Given the description of an element on the screen output the (x, y) to click on. 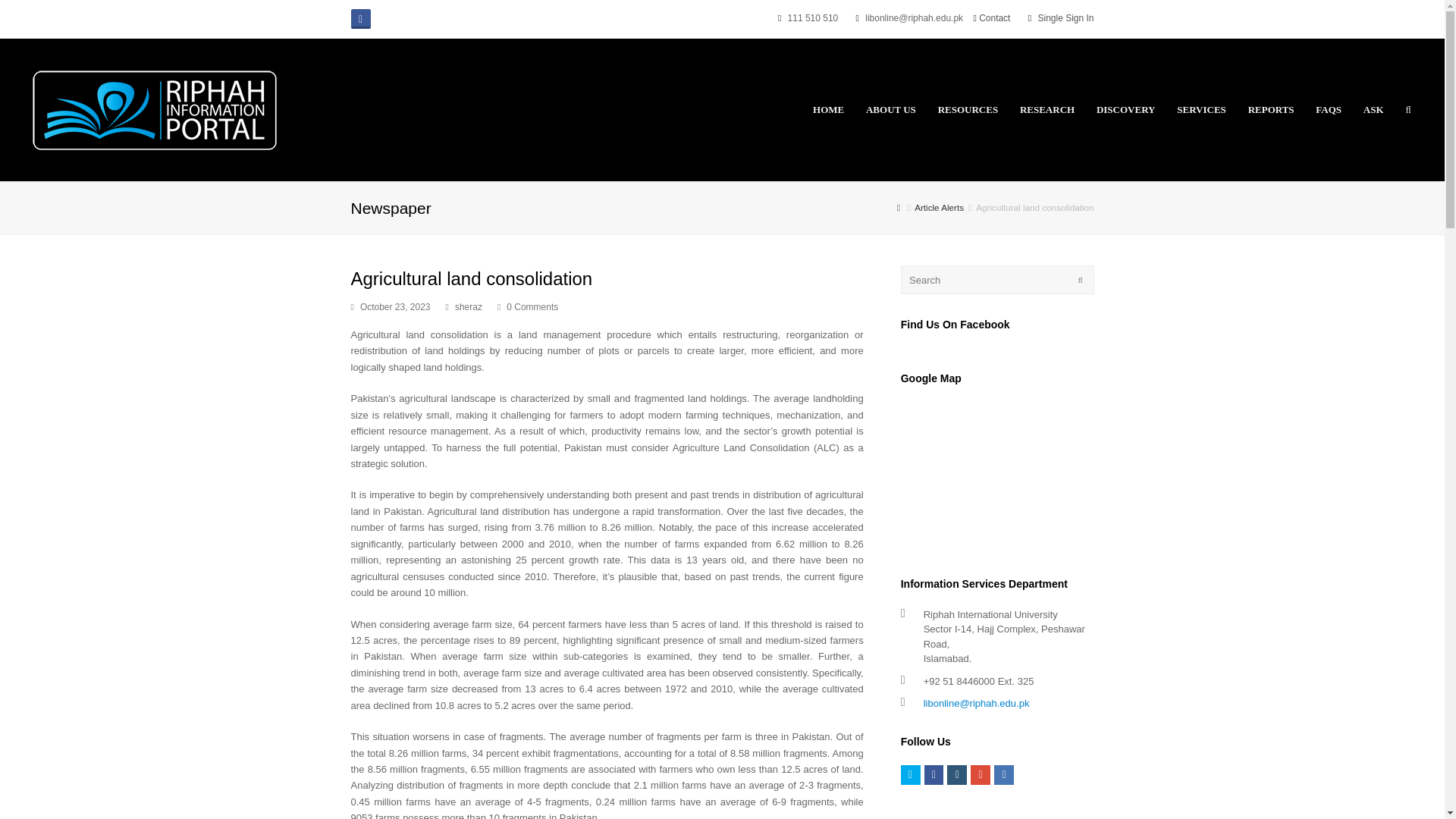
DISCOVERY (1126, 109)
Twitter (910, 774)
Facebook (359, 18)
ASK (1373, 109)
SERVICES (1201, 109)
Posts by sheraz (467, 307)
Single Sign In (1066, 18)
REPORTS (1270, 109)
Riphah Information Portal (155, 108)
ABOUT US (891, 109)
